Given the description of an element on the screen output the (x, y) to click on. 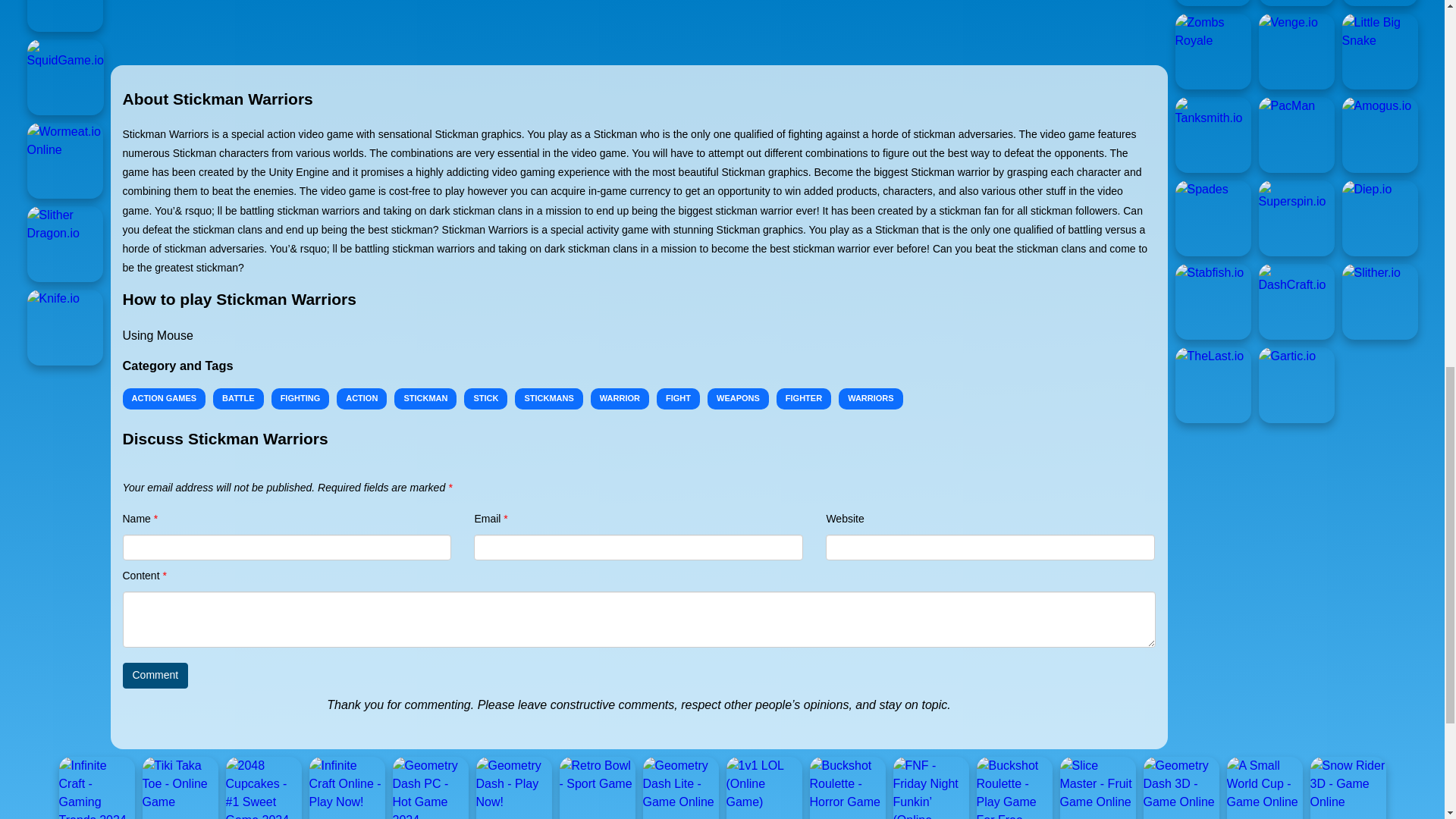
ACTION GAMES (164, 398)
Slither Dragon.io (65, 243)
FIGHTING (300, 398)
Wormeat.io Online (65, 160)
Comment (155, 675)
STICKMANS (548, 398)
Knife.io (65, 327)
BATTLE (237, 398)
AstroDud.io (65, 15)
Cycling Hero (1212, 2)
STICKMAN (425, 398)
STICK (485, 398)
ACTION (361, 398)
SquidGame.io (65, 77)
WARRIOR (620, 398)
